Given the description of an element on the screen output the (x, y) to click on. 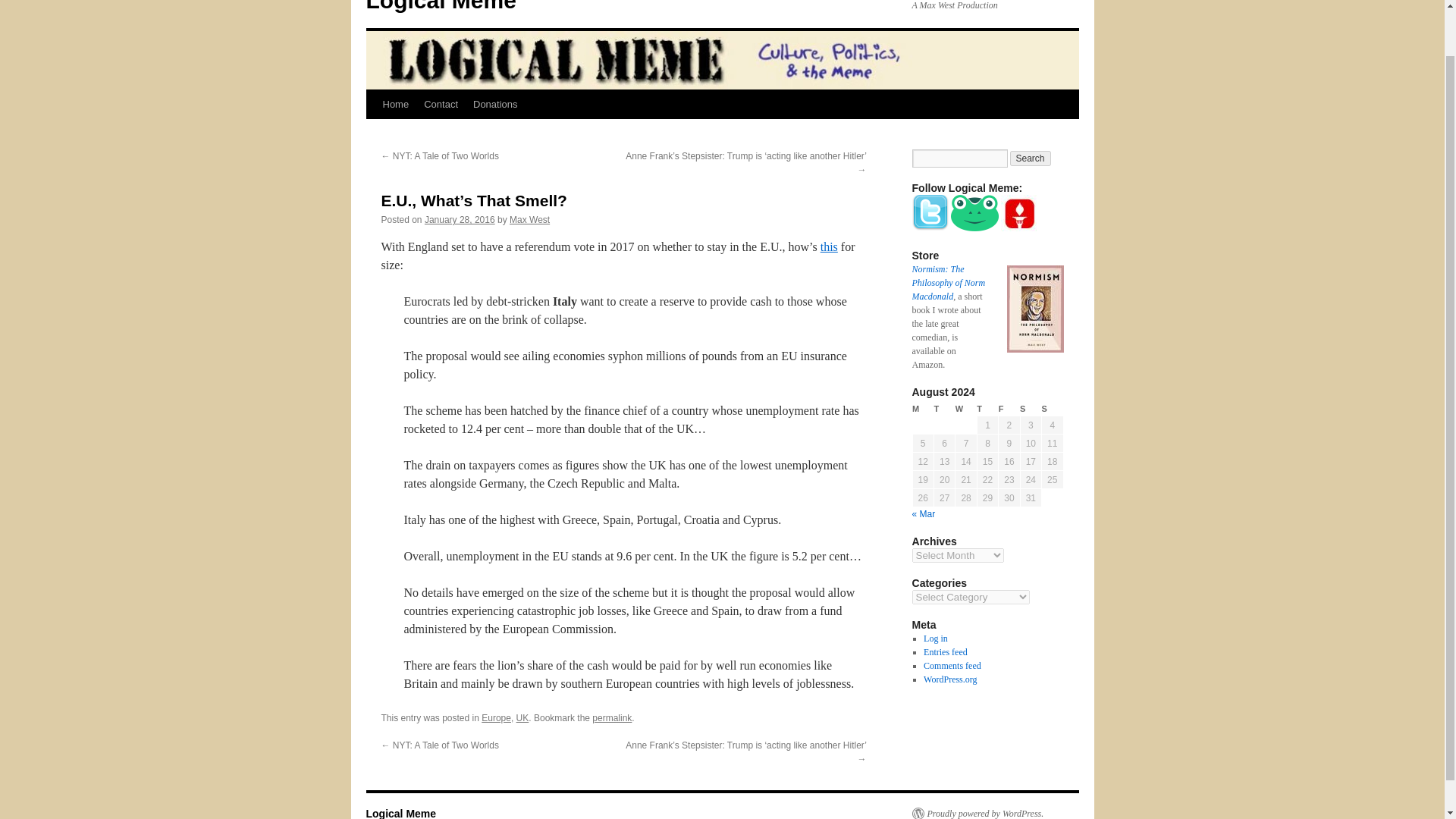
Donations (495, 104)
Logical Meme (440, 6)
Monday (922, 409)
5:29 am (460, 219)
Saturday (1030, 409)
Sunday (1052, 409)
Entries feed (945, 652)
Home (395, 104)
Log in (935, 638)
Search (1030, 158)
